Given the description of an element on the screen output the (x, y) to click on. 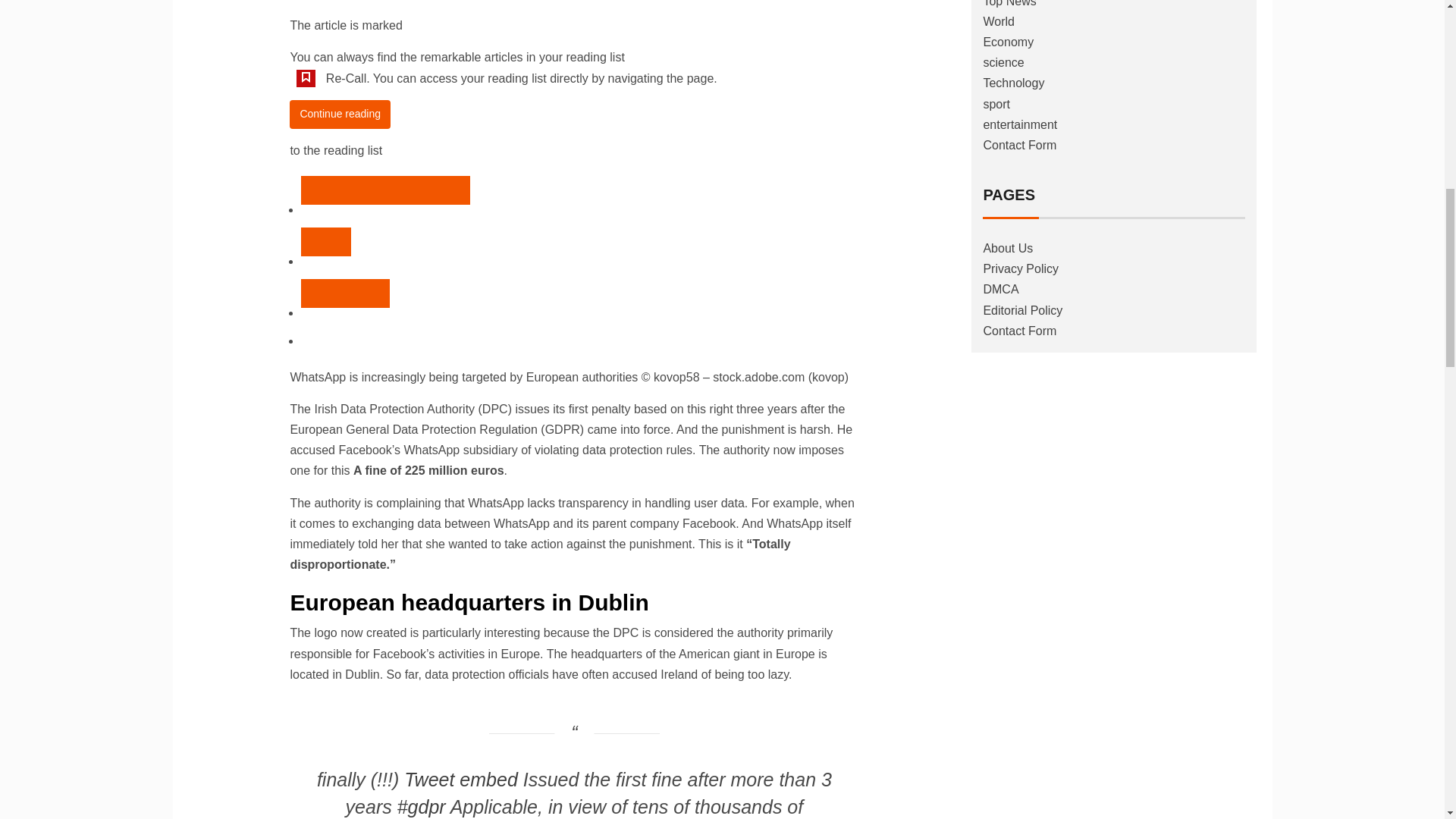
Tweet embed (461, 779)
Facebook social networking site (384, 190)
Twitter (325, 241)
Continue reading (339, 113)
The WhatsApp (345, 293)
